Given the description of an element on the screen output the (x, y) to click on. 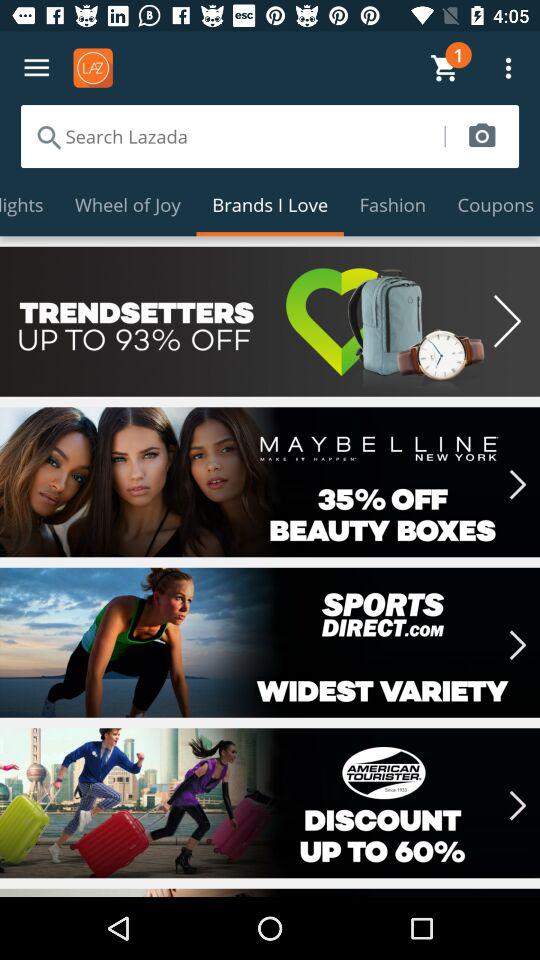
search box (232, 136)
